Given the description of an element on the screen output the (x, y) to click on. 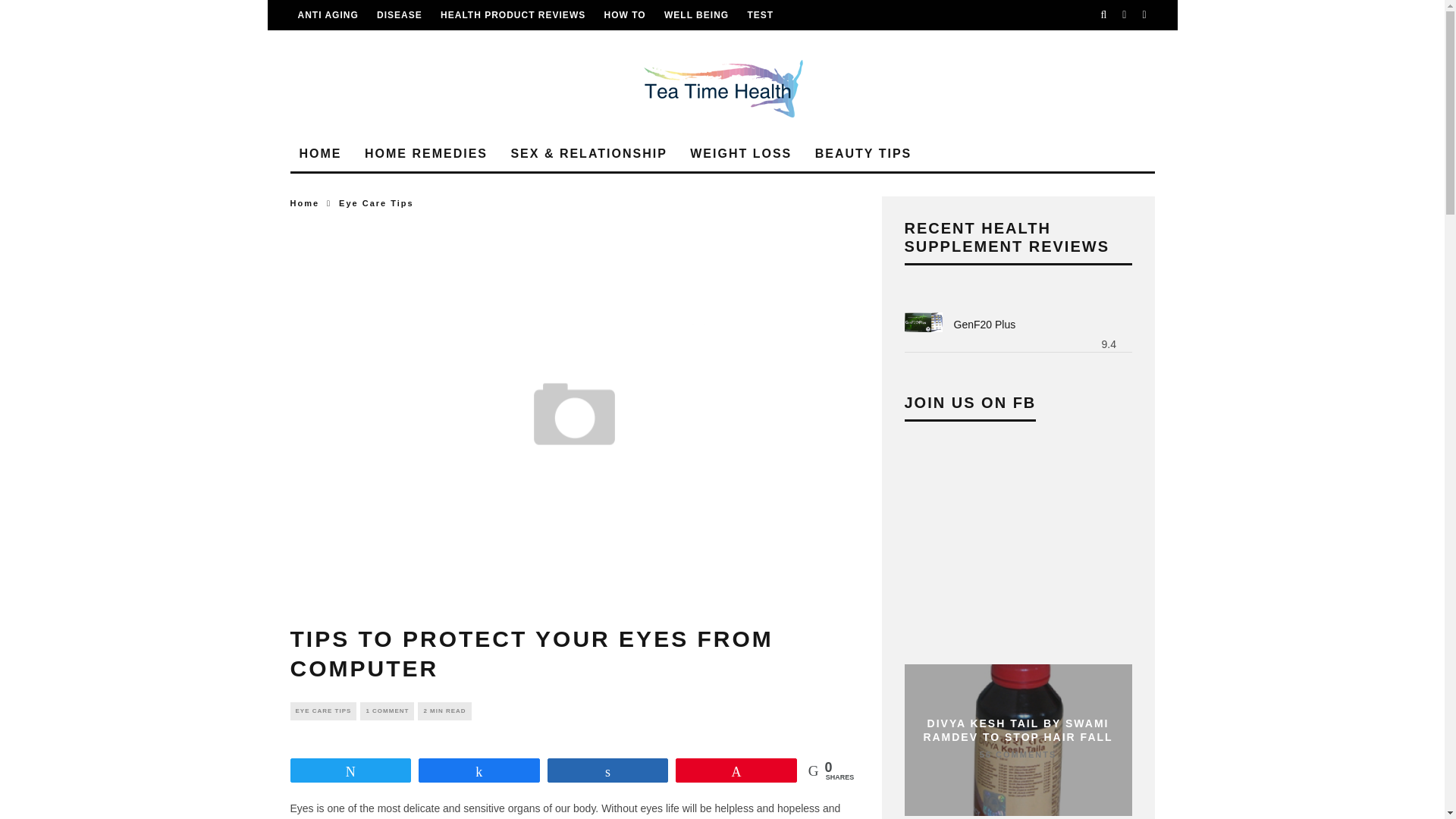
Home (303, 203)
2 MIN READ (443, 710)
HOME (319, 154)
BEAUTY TIPS (863, 154)
Eye Care Tips (376, 203)
View all posts in Eye Care Tips (376, 203)
ANTI AGING (327, 15)
1 COMMENT (386, 710)
WELL BEING (696, 15)
DISEASE (399, 15)
